Given the description of an element on the screen output the (x, y) to click on. 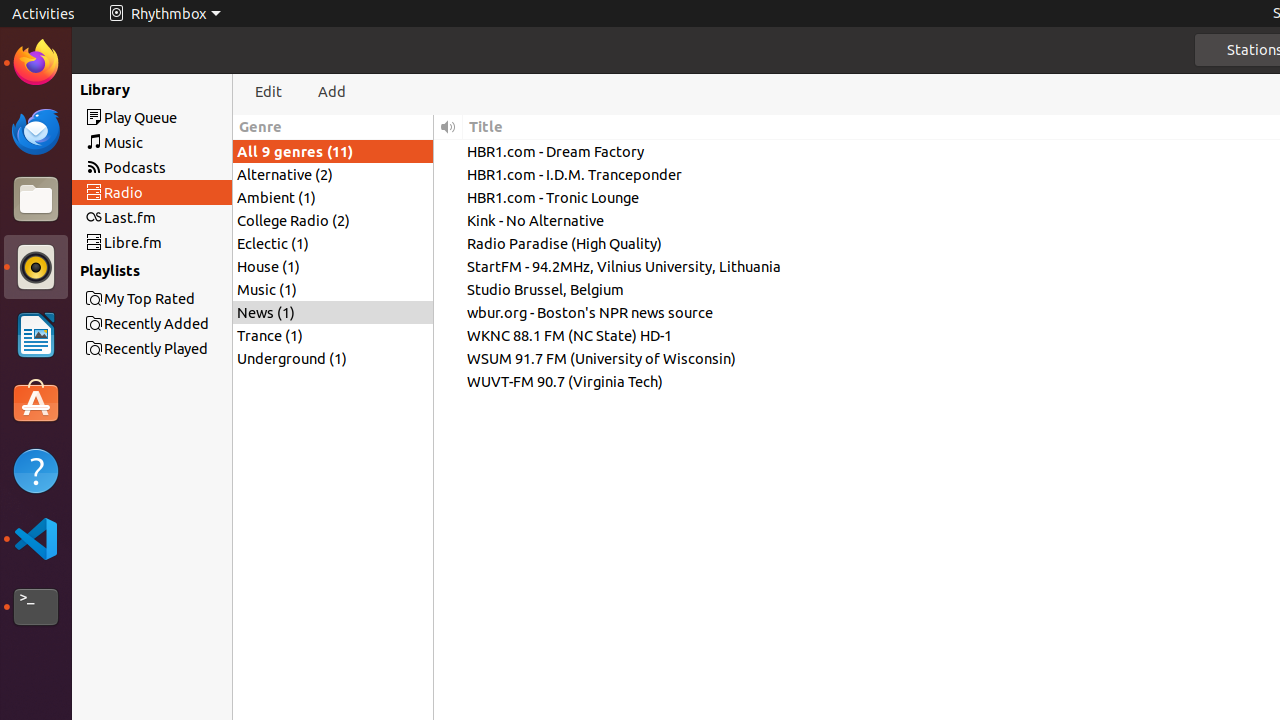
Radio Element type: table-cell (188, 192)
Library Element type: table-cell (94, 89)
Underground (1) Element type: table-cell (333, 358)
Recently Played Element type: table-cell (188, 89)
Edit Element type: toggle-button (269, 91)
